Given the description of an element on the screen output the (x, y) to click on. 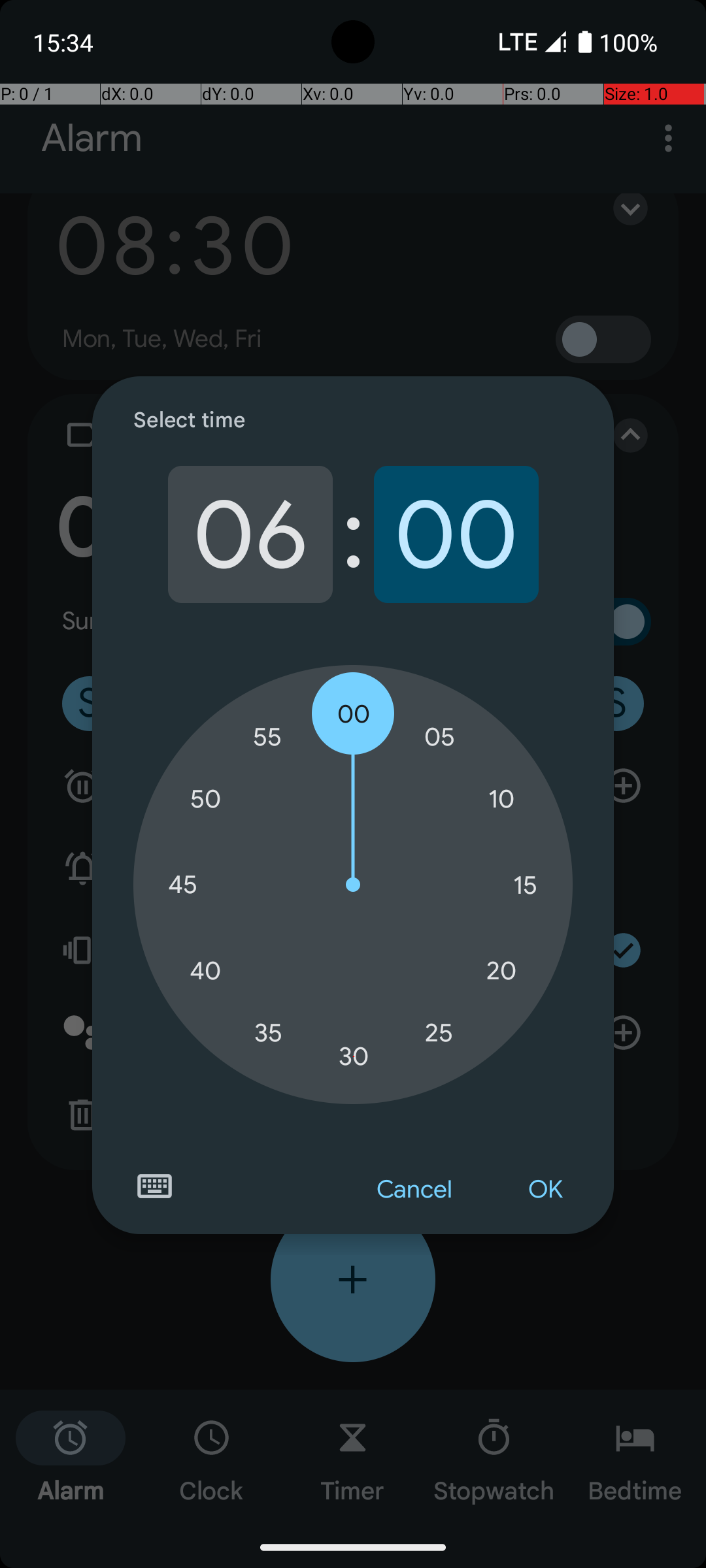
06 Element type: android.view.View (250, 534)
